Given the description of an element on the screen output the (x, y) to click on. 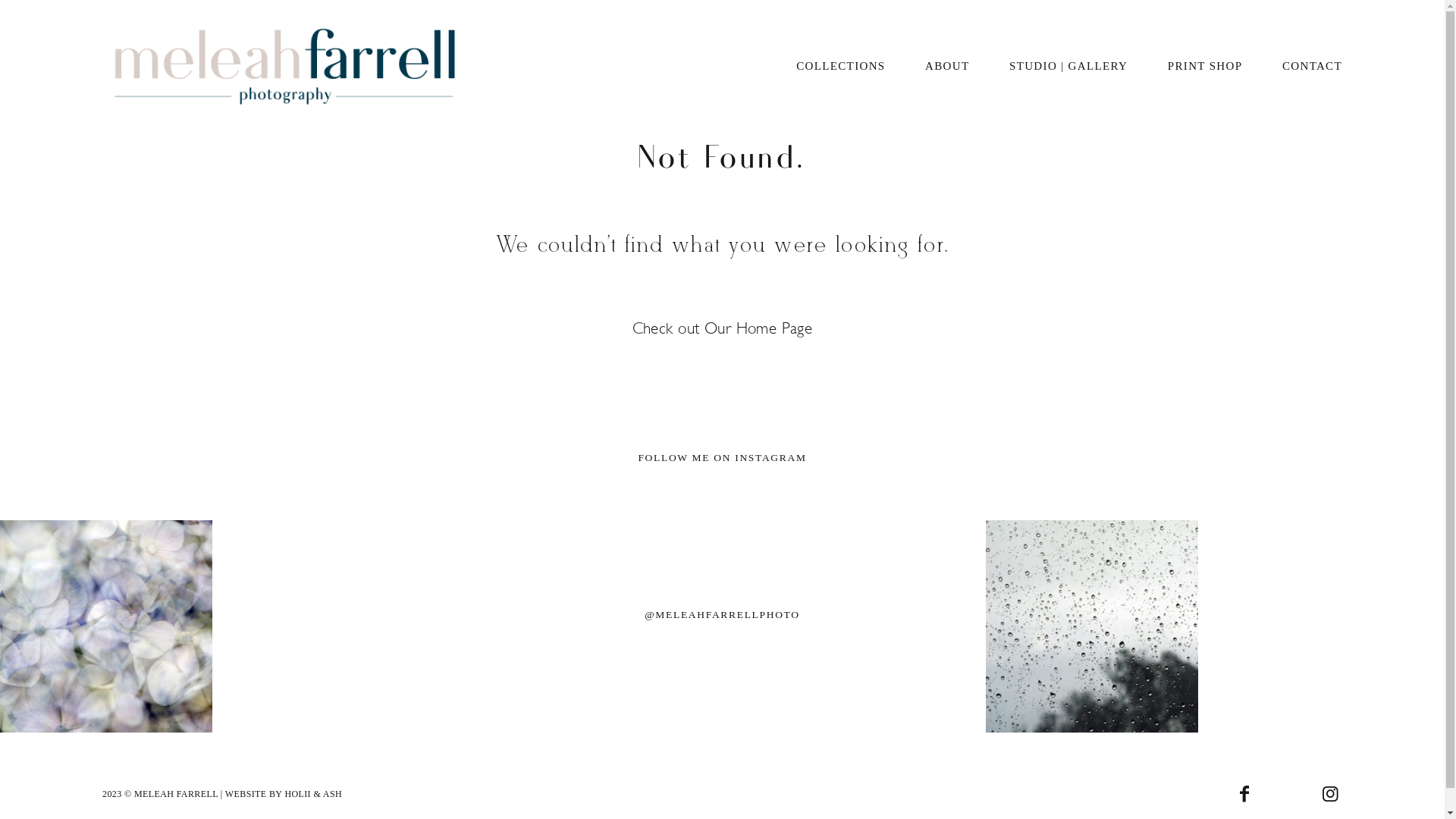
@MELEAHFARRELLPHOTO Element type: text (722, 614)
HOLII & ASH Element type: text (313, 793)
CONTACT Element type: text (1312, 66)
STUDIO | GALLERY Element type: text (1068, 66)
COLLECTIONS Element type: text (840, 66)
ABOUT Element type: text (947, 66)
PRINT SHOP Element type: text (1204, 66)
Check out Our Home Page Element type: text (722, 328)
